Given the description of an element on the screen output the (x, y) to click on. 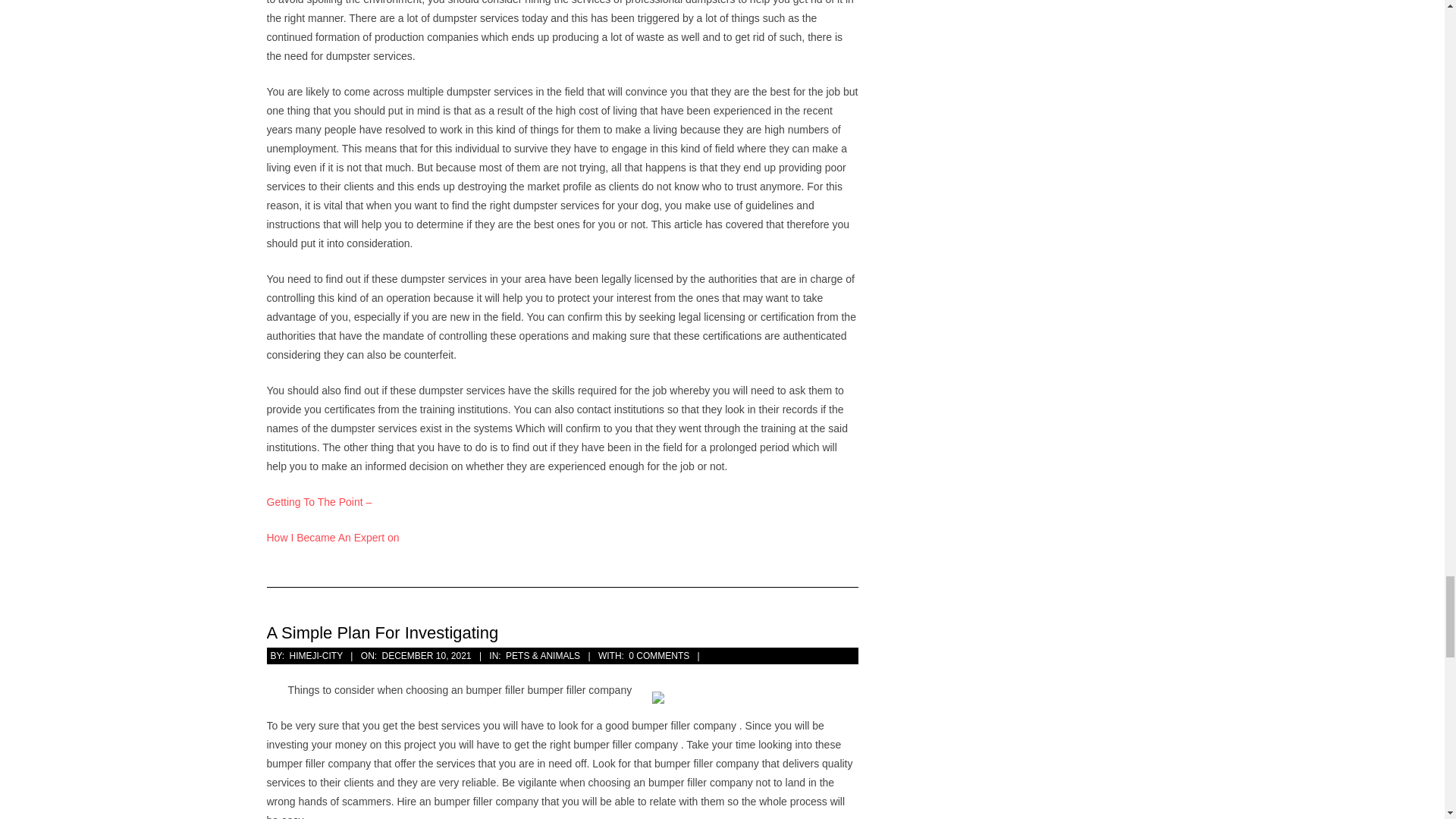
Posts by himeji-city (315, 655)
